Given the description of an element on the screen output the (x, y) to click on. 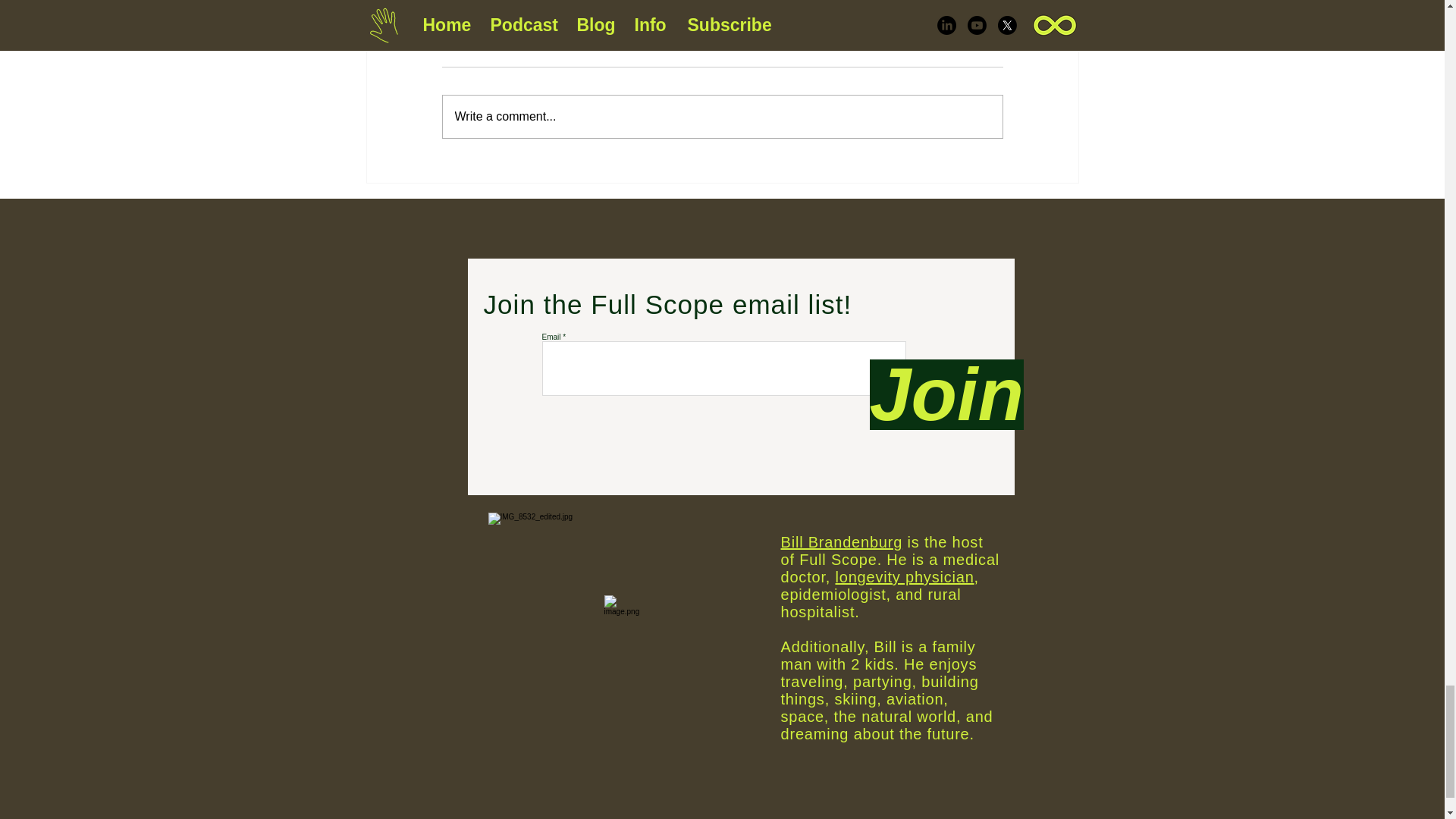
Write a comment... (722, 116)
